Given the description of an element on the screen output the (x, y) to click on. 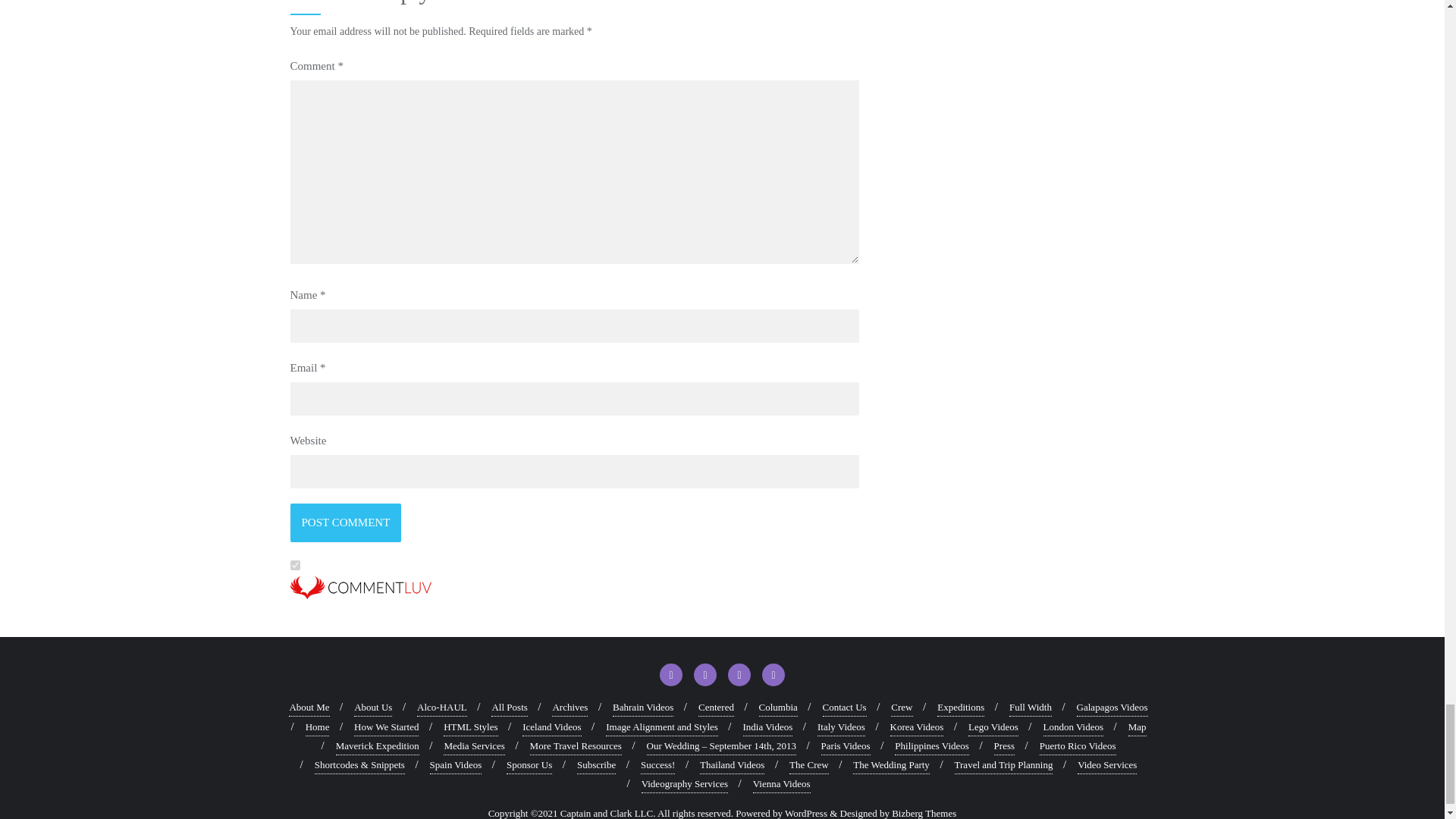
CommentLuv is enabled (574, 595)
on (294, 565)
Post Comment (345, 522)
